Given the description of an element on the screen output the (x, y) to click on. 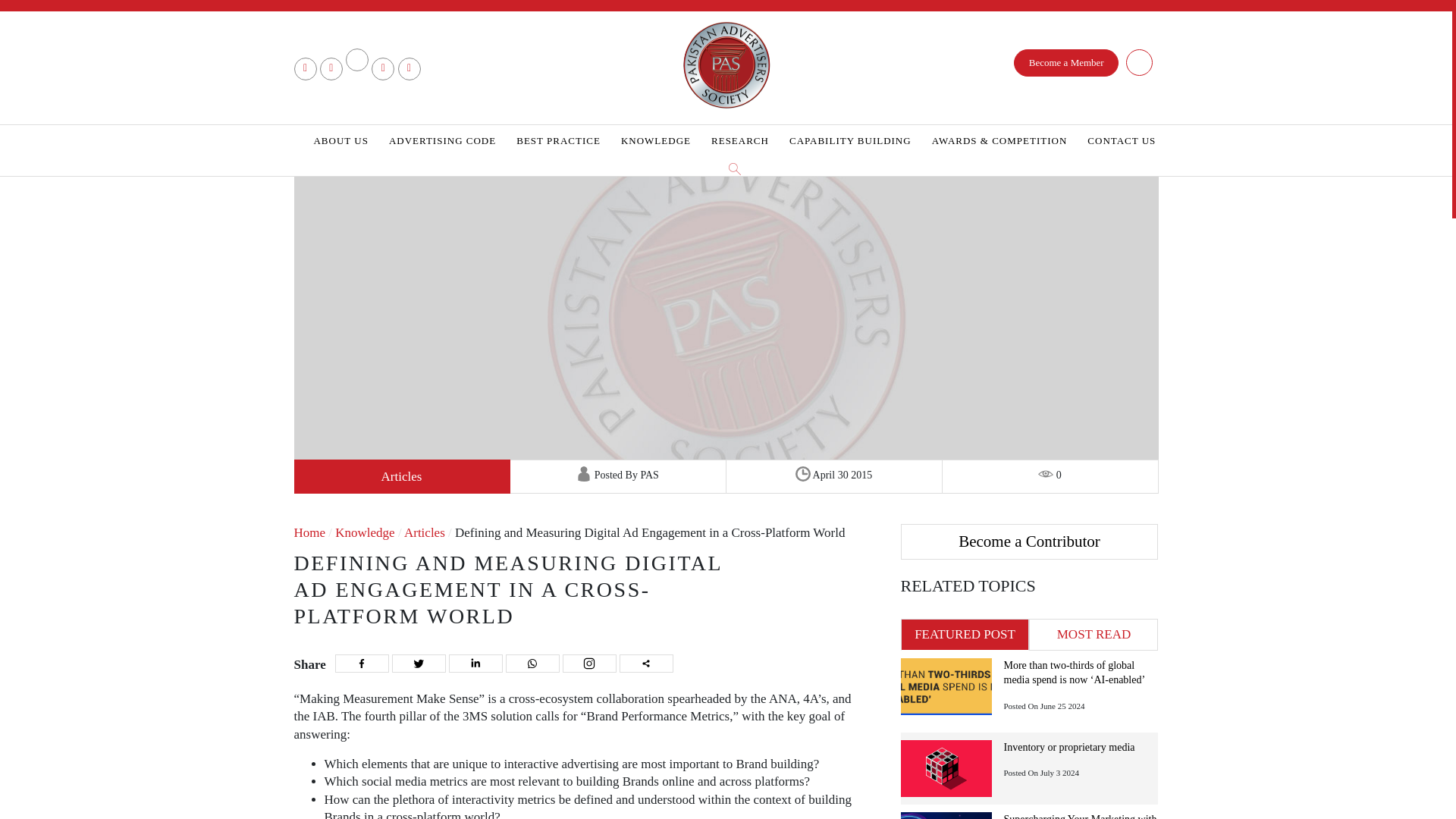
More (646, 663)
twitter (331, 64)
Instagram (588, 663)
facebook (304, 64)
RESEARCH (739, 141)
BEST PRACTICE (557, 141)
ADVERTISING CODE (442, 141)
Facebook (361, 663)
ABOUT US (340, 141)
KNOWLEDGE (655, 141)
Linkedin (475, 663)
youtube (383, 64)
Instagram (408, 64)
CAPABILITY BUILDING (850, 141)
